Given the description of an element on the screen output the (x, y) to click on. 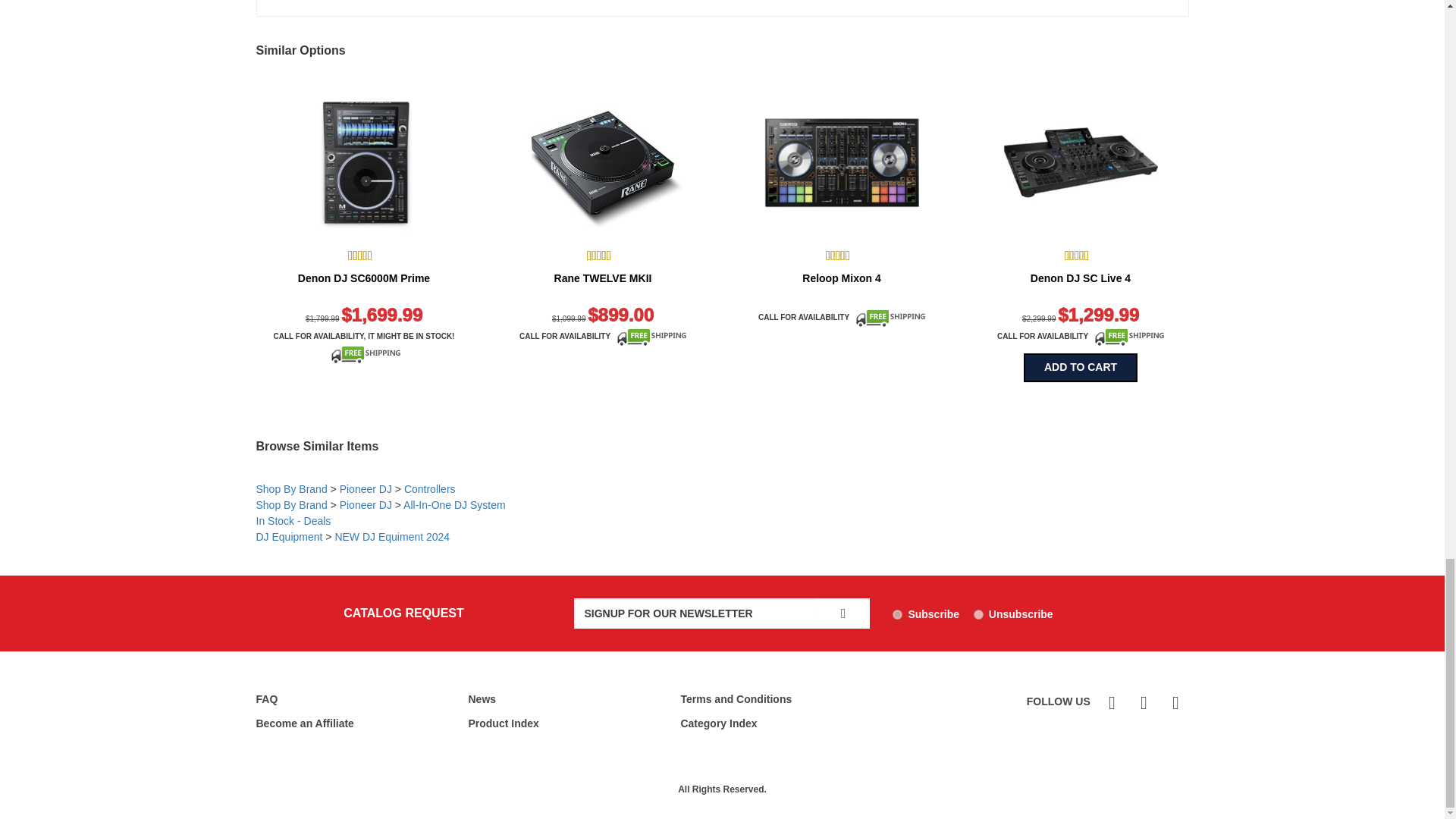
1 (897, 614)
0 (979, 614)
Like Us on Facebook (1142, 702)
Subscribe to our Blog (1110, 702)
Follow Us on Instagram (1173, 702)
